Given the description of an element on the screen output the (x, y) to click on. 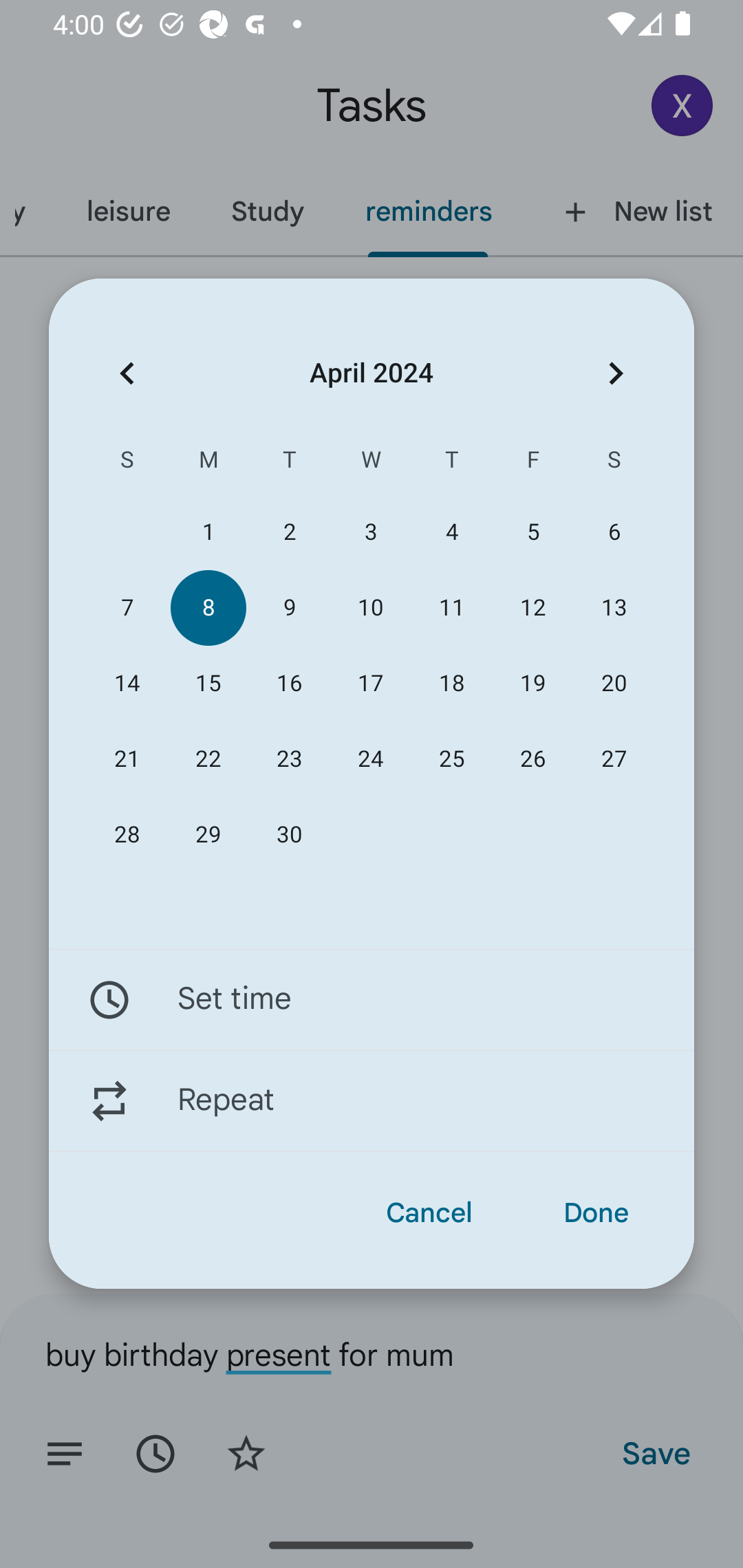
Previous month (126, 372)
Next month (615, 372)
1 01 April 2024 (207, 531)
2 02 April 2024 (288, 531)
3 03 April 2024 (370, 531)
4 04 April 2024 (451, 531)
5 05 April 2024 (532, 531)
6 06 April 2024 (613, 531)
7 07 April 2024 (126, 608)
8 08 April 2024 (207, 608)
9 09 April 2024 (288, 608)
10 10 April 2024 (370, 608)
11 11 April 2024 (451, 608)
12 12 April 2024 (532, 608)
13 13 April 2024 (613, 608)
14 14 April 2024 (126, 683)
15 15 April 2024 (207, 683)
16 16 April 2024 (288, 683)
17 17 April 2024 (370, 683)
18 18 April 2024 (451, 683)
19 19 April 2024 (532, 683)
20 20 April 2024 (613, 683)
21 21 April 2024 (126, 758)
22 22 April 2024 (207, 758)
23 23 April 2024 (288, 758)
24 24 April 2024 (370, 758)
25 25 April 2024 (451, 758)
26 26 April 2024 (532, 758)
27 27 April 2024 (613, 758)
28 28 April 2024 (126, 834)
29 29 April 2024 (207, 834)
30 30 April 2024 (288, 834)
Set time (371, 999)
Repeat (371, 1101)
Cancel (429, 1213)
Done (595, 1213)
